Given the description of an element on the screen output the (x, y) to click on. 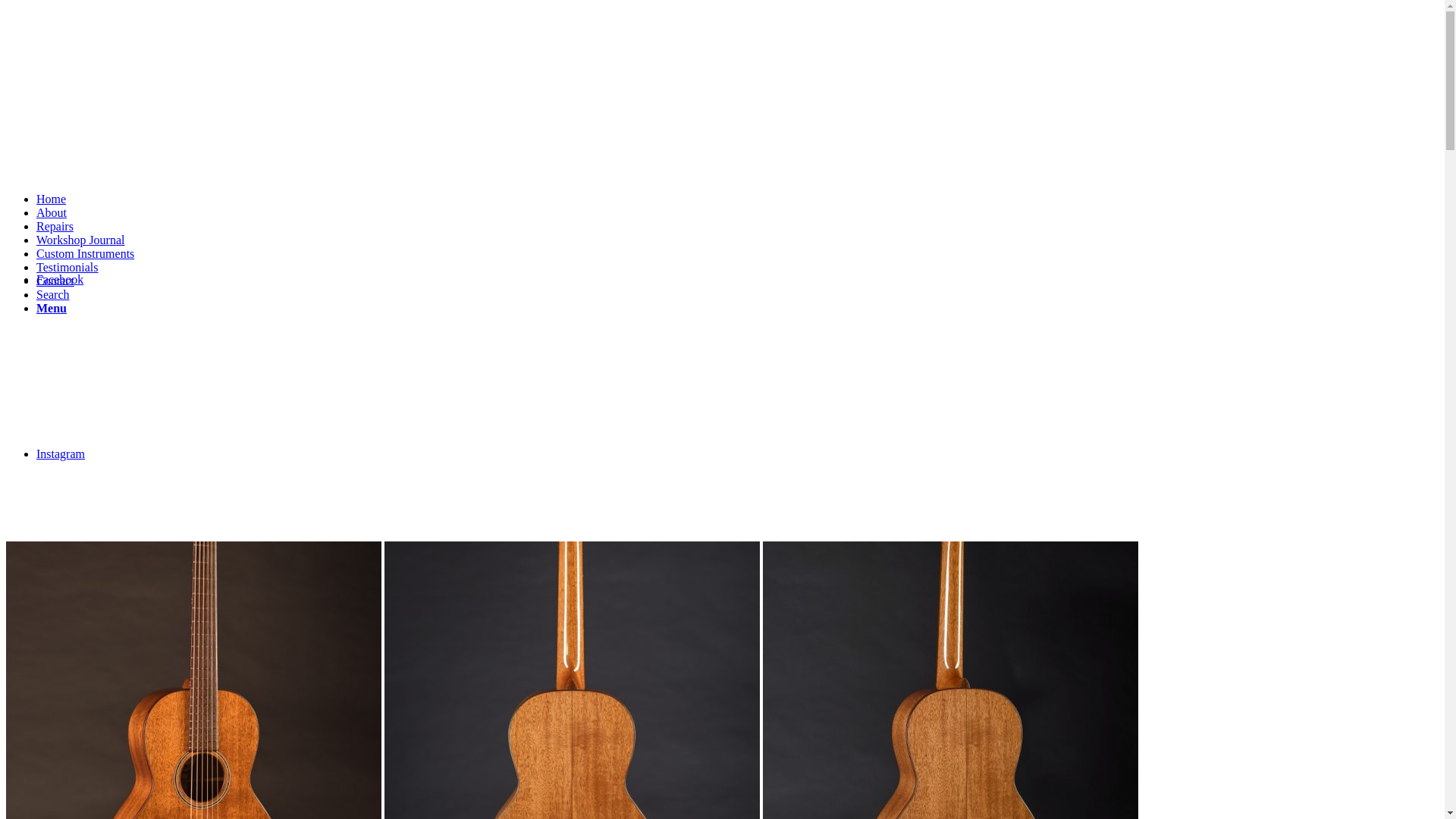
Search Element type: text (52, 294)
About Element type: text (51, 212)
Workshop Journal Element type: text (80, 239)
Instagram Element type: text (60, 453)
Menu Element type: text (51, 307)
Repairs Element type: text (54, 225)
Home Element type: text (50, 198)
Facebook Element type: text (59, 279)
Custom Instruments Element type: text (85, 253)
Contact Element type: text (55, 280)
Testimonials Element type: text (67, 266)
